Given the description of an element on the screen output the (x, y) to click on. 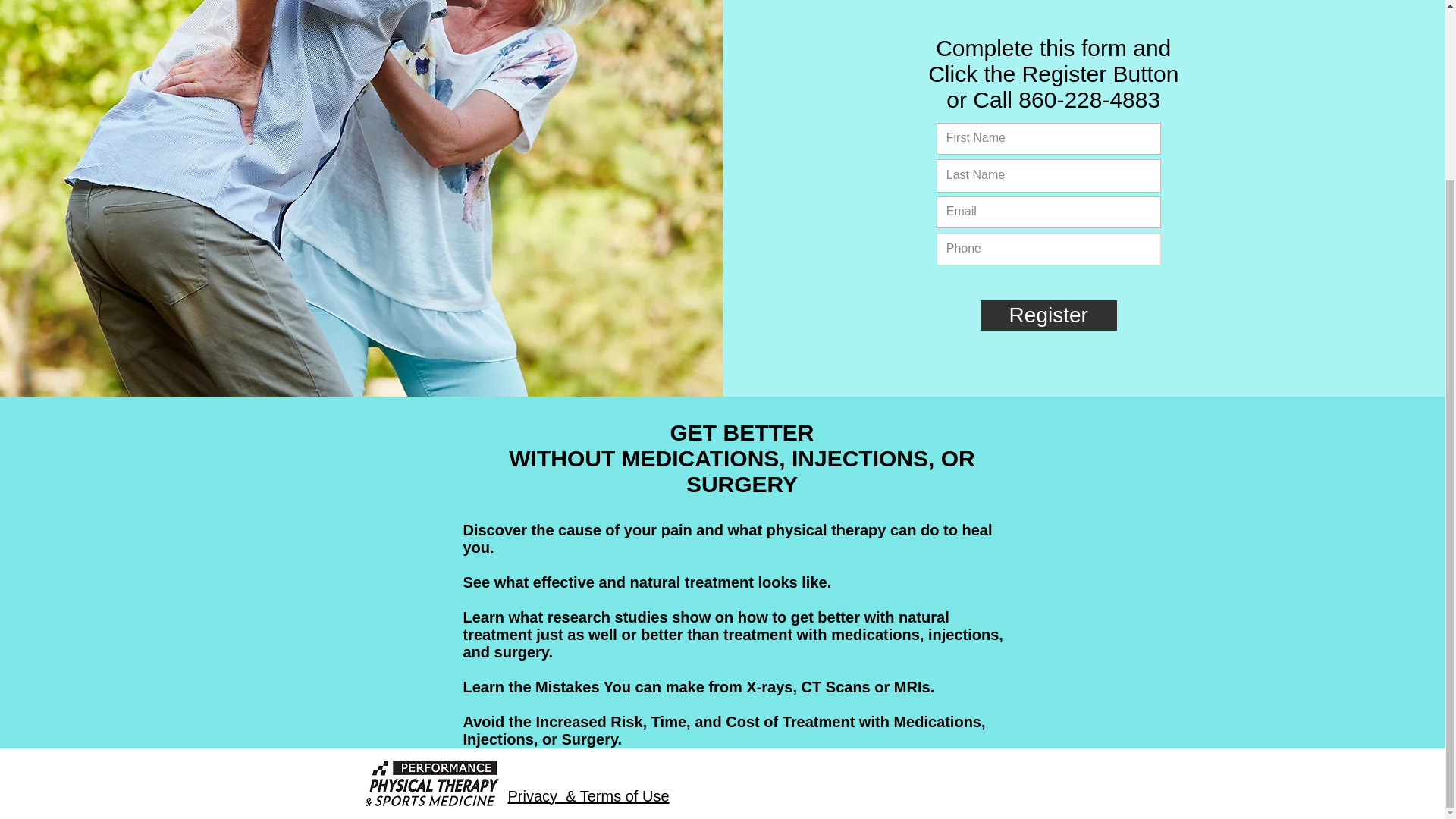
Register (1047, 315)
